Given the description of an element on the screen output the (x, y) to click on. 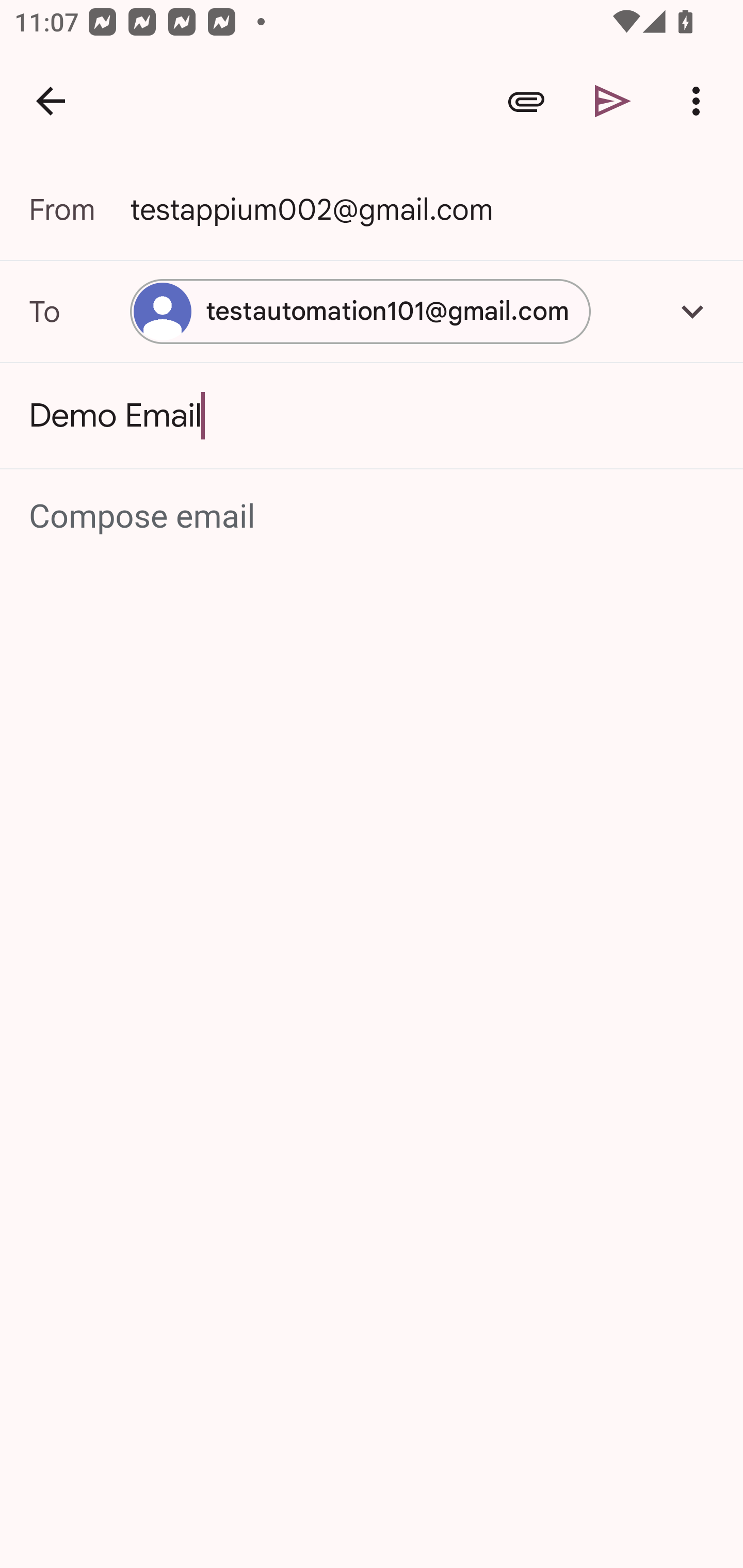
Navigate up (50, 101)
Attach file (525, 101)
Send (612, 101)
More options (699, 101)
From (79, 209)
Add Cc/Bcc (692, 311)
Demo Email (371, 415)
Compose email (372, 517)
